Given the description of an element on the screen output the (x, y) to click on. 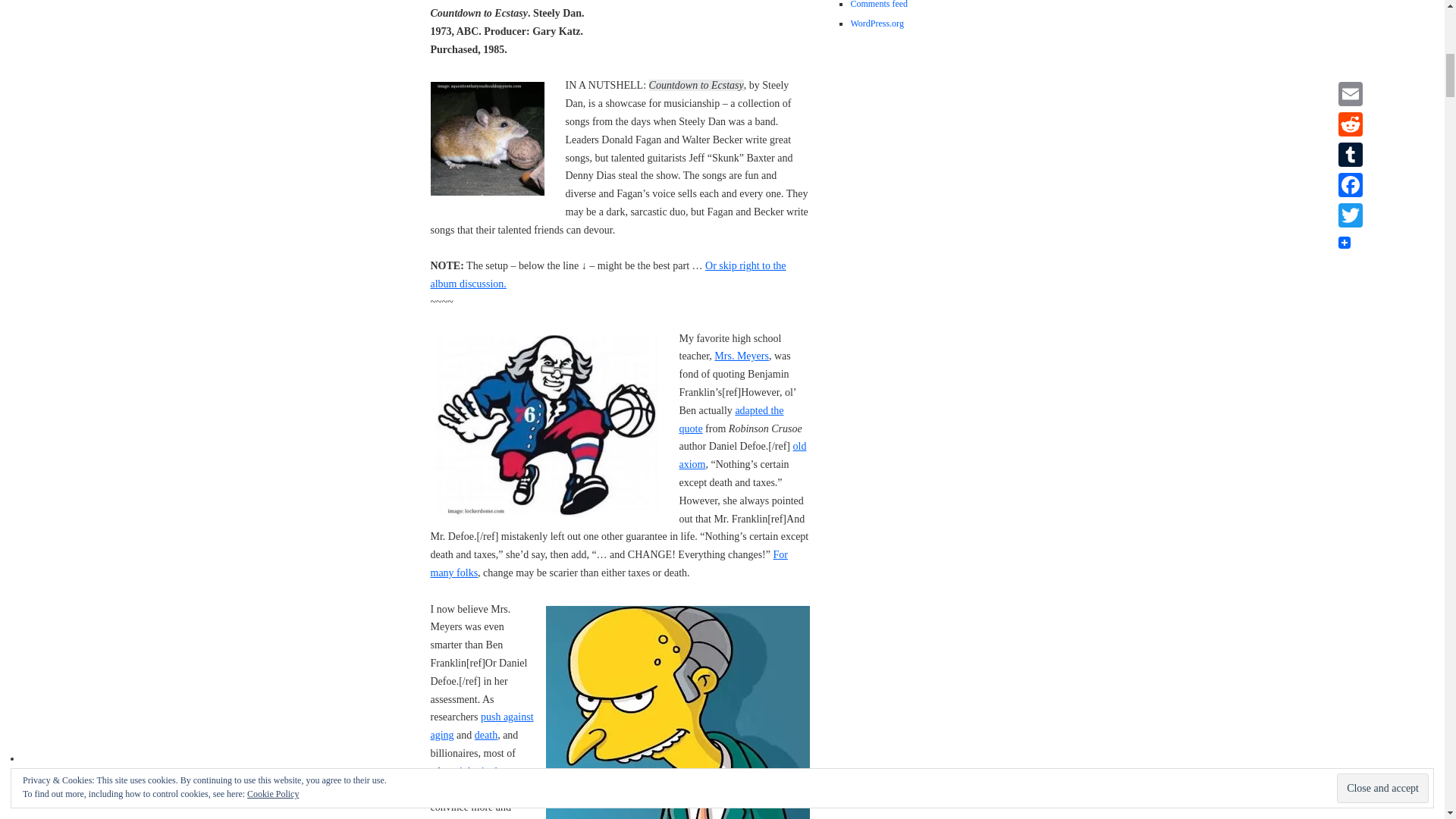
old axiom (742, 455)
Mrs. Meyers (741, 355)
Or skip right to the album discussion. (608, 274)
push against aging (482, 726)
death (485, 735)
For many folks (608, 563)
adapted the quote (731, 419)
finagled (447, 789)
inherited (478, 771)
